Given the description of an element on the screen output the (x, y) to click on. 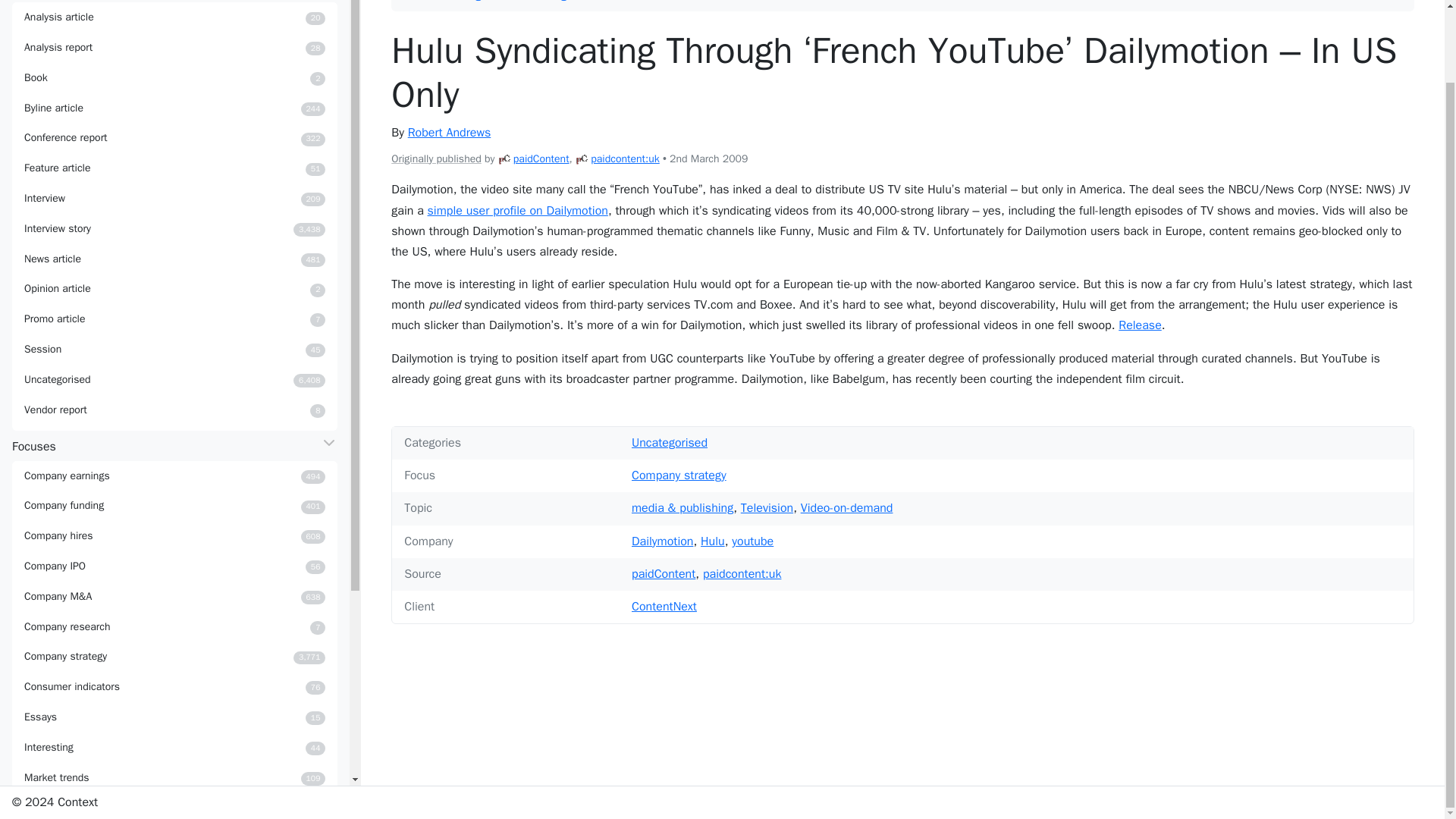
View all posts in paidcontent:uk (174, 17)
Release (174, 318)
paidContent (625, 158)
View all posts in paidContent (174, 288)
Posts by Robert Andrews (174, 566)
